Given the description of an element on the screen output the (x, y) to click on. 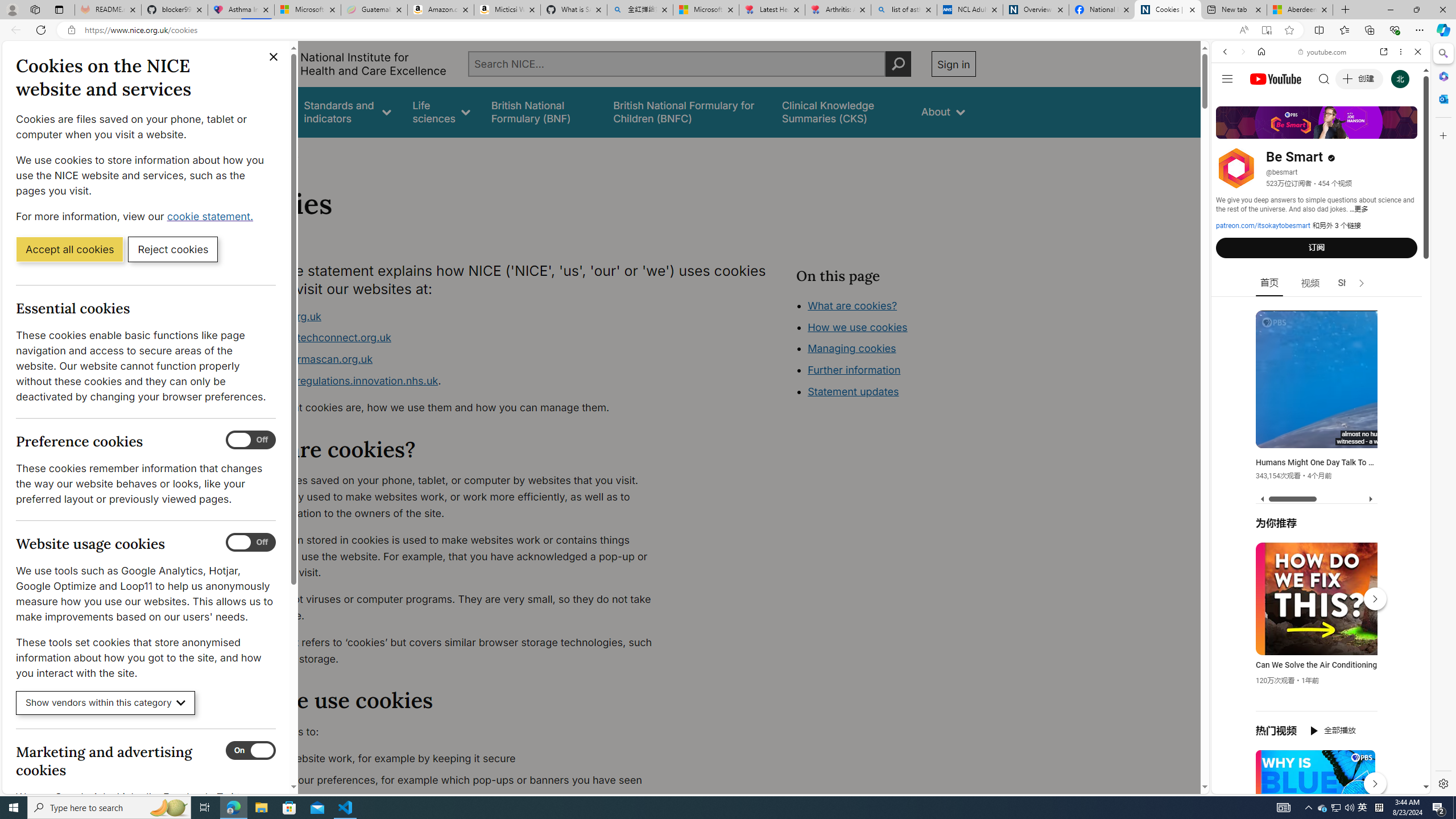
YouTube (1315, 655)
make our website work, for example by keeping it secure (452, 759)
Arthritis: Ask Health Professionals (838, 9)
www.healthtechconnect.org.uk (452, 338)
Cookies | About | NICE (1167, 9)
Further information (854, 369)
WEB   (1230, 130)
Marketing and advertising cookies (250, 750)
Google (1320, 281)
